Given the description of an element on the screen output the (x, y) to click on. 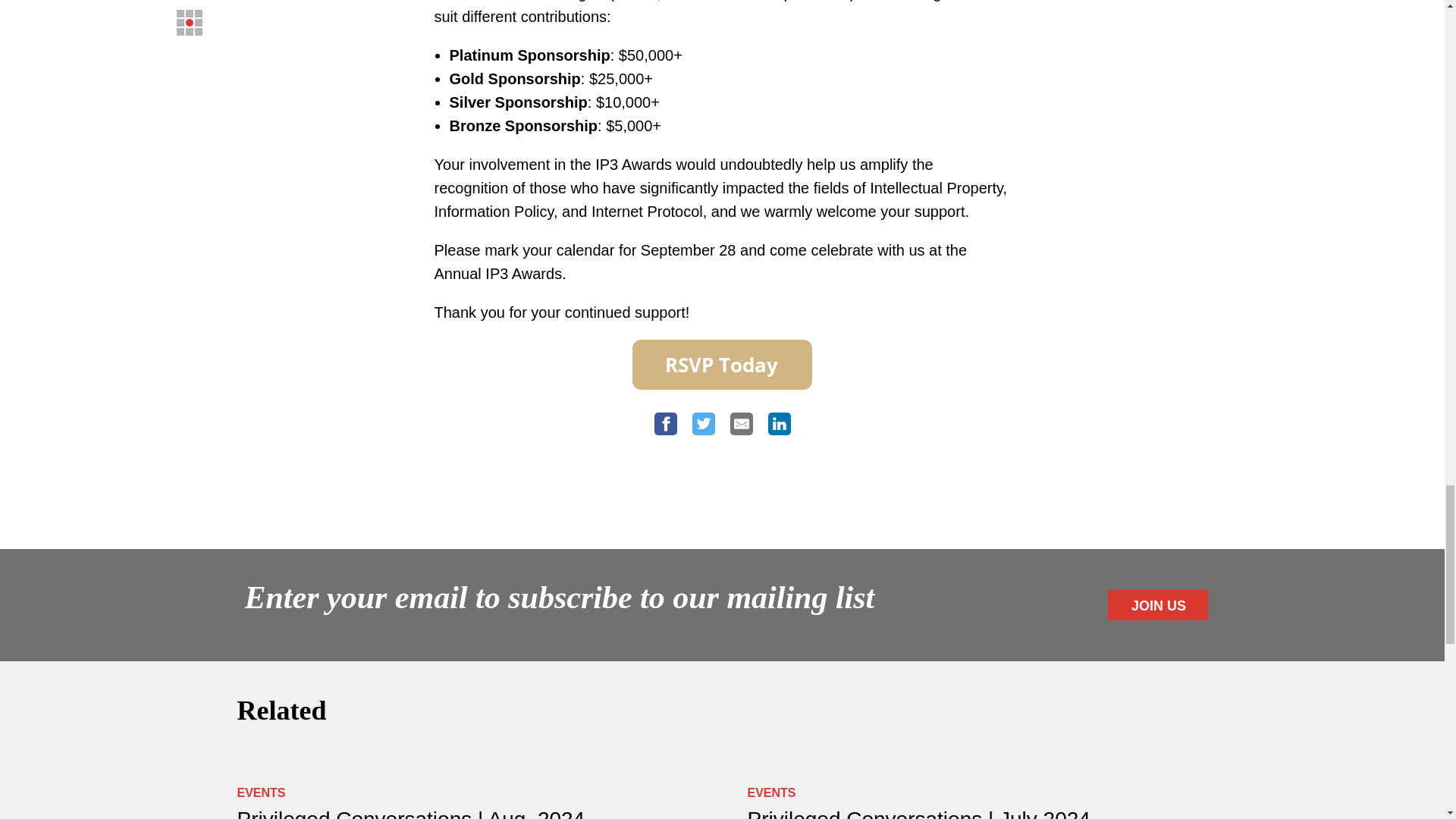
Join Us (1157, 604)
